Given the description of an element on the screen output the (x, y) to click on. 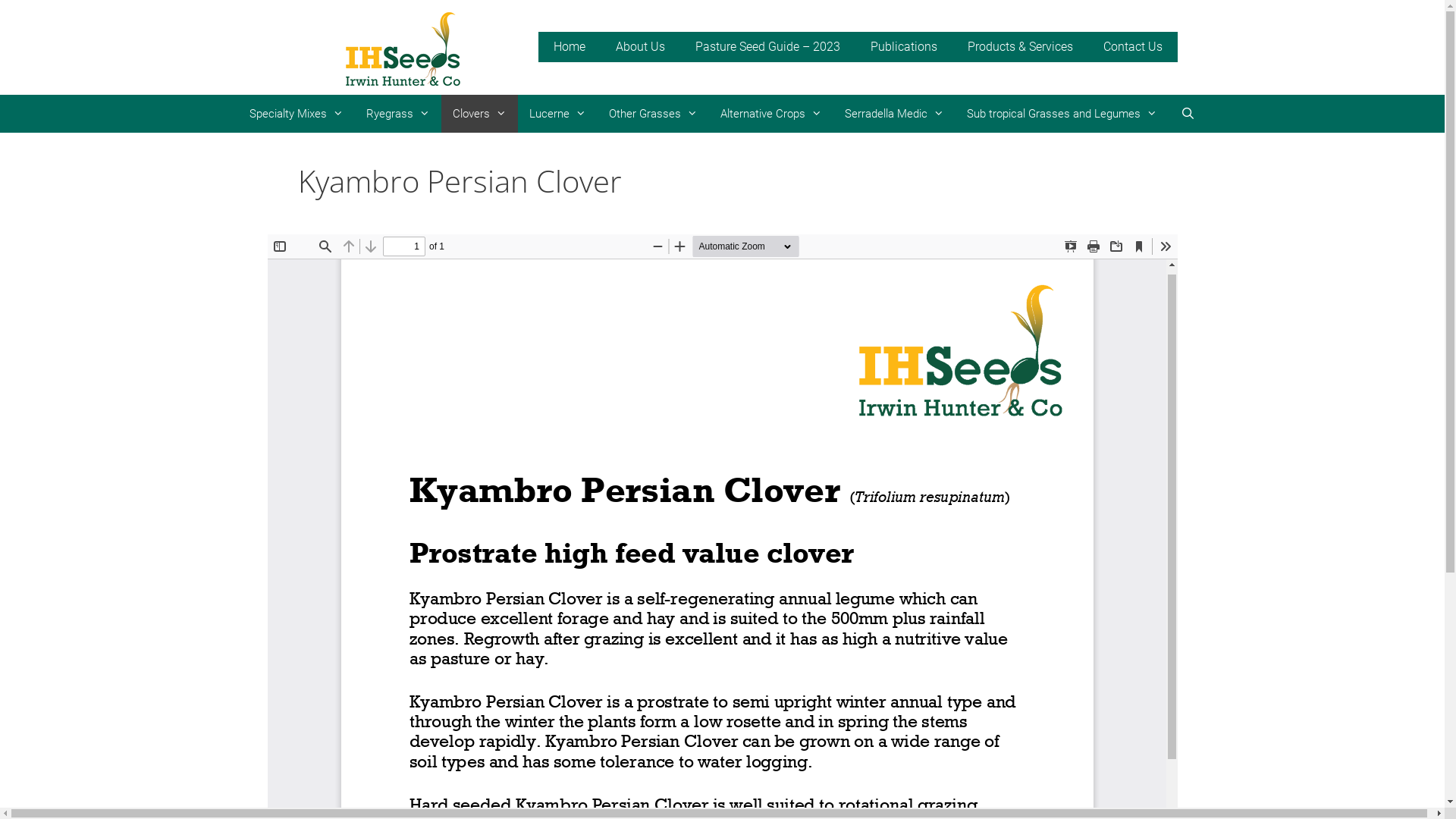
Contact Us Element type: text (1131, 46)
Clovers Element type: text (479, 113)
Lucerne Element type: text (557, 113)
Specialty Mixes Element type: text (296, 113)
Home Element type: text (569, 46)
Other Grasses Element type: text (653, 113)
Ryegrass Element type: text (397, 113)
Sub tropical Grasses and Legumes Element type: text (1061, 113)
About Us Element type: text (640, 46)
Products & Services Element type: text (1020, 46)
Alternative Crops Element type: text (771, 113)
Serradella Medic Element type: text (894, 113)
Publications Element type: text (903, 46)
